Given the description of an element on the screen output the (x, y) to click on. 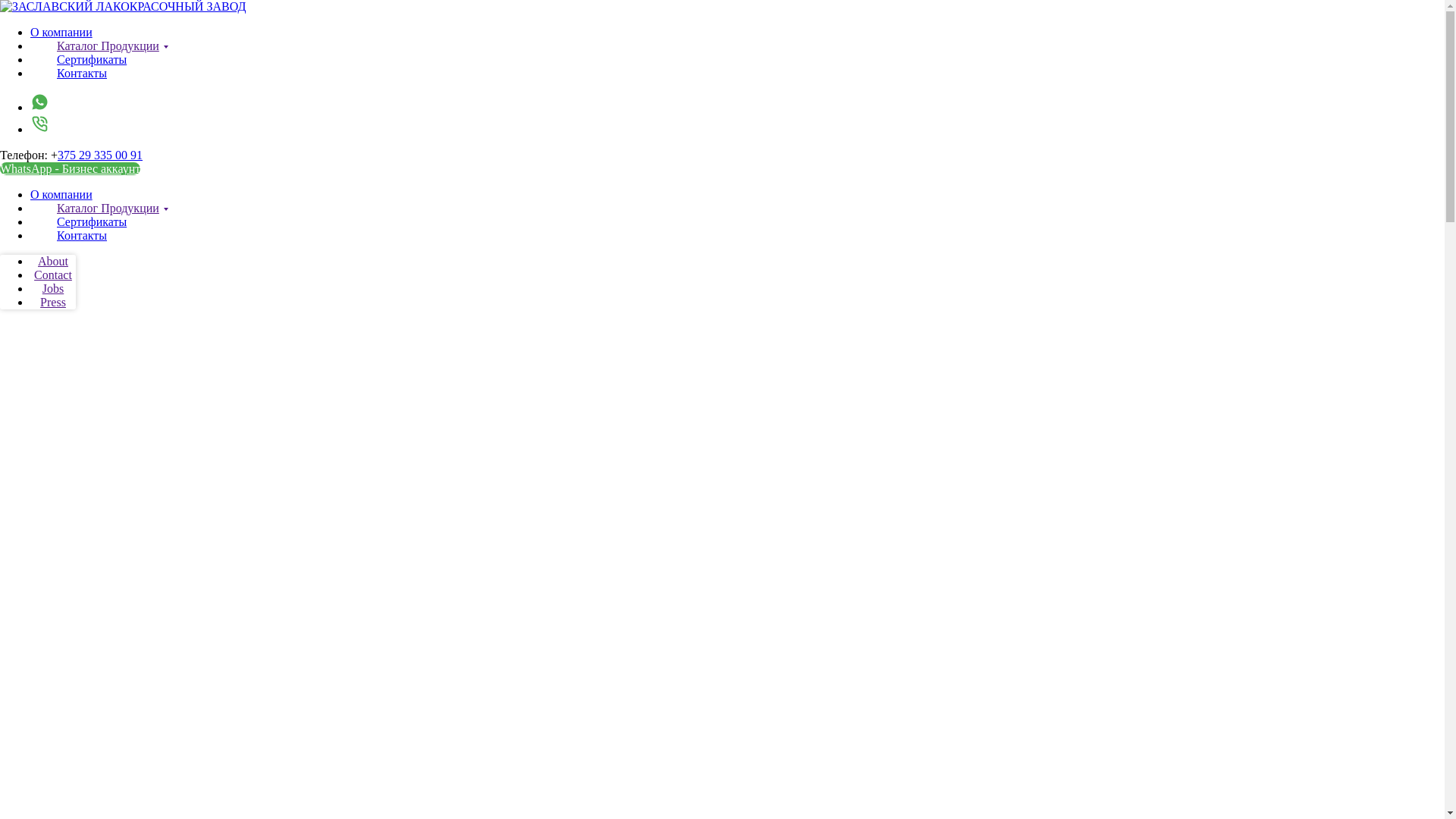
375 29 335 00 91 Element type: text (99, 154)
Press Element type: text (52, 301)
Contact Element type: text (53, 274)
About Element type: text (52, 260)
Jobs Element type: text (52, 288)
